Given the description of an element on the screen output the (x, y) to click on. 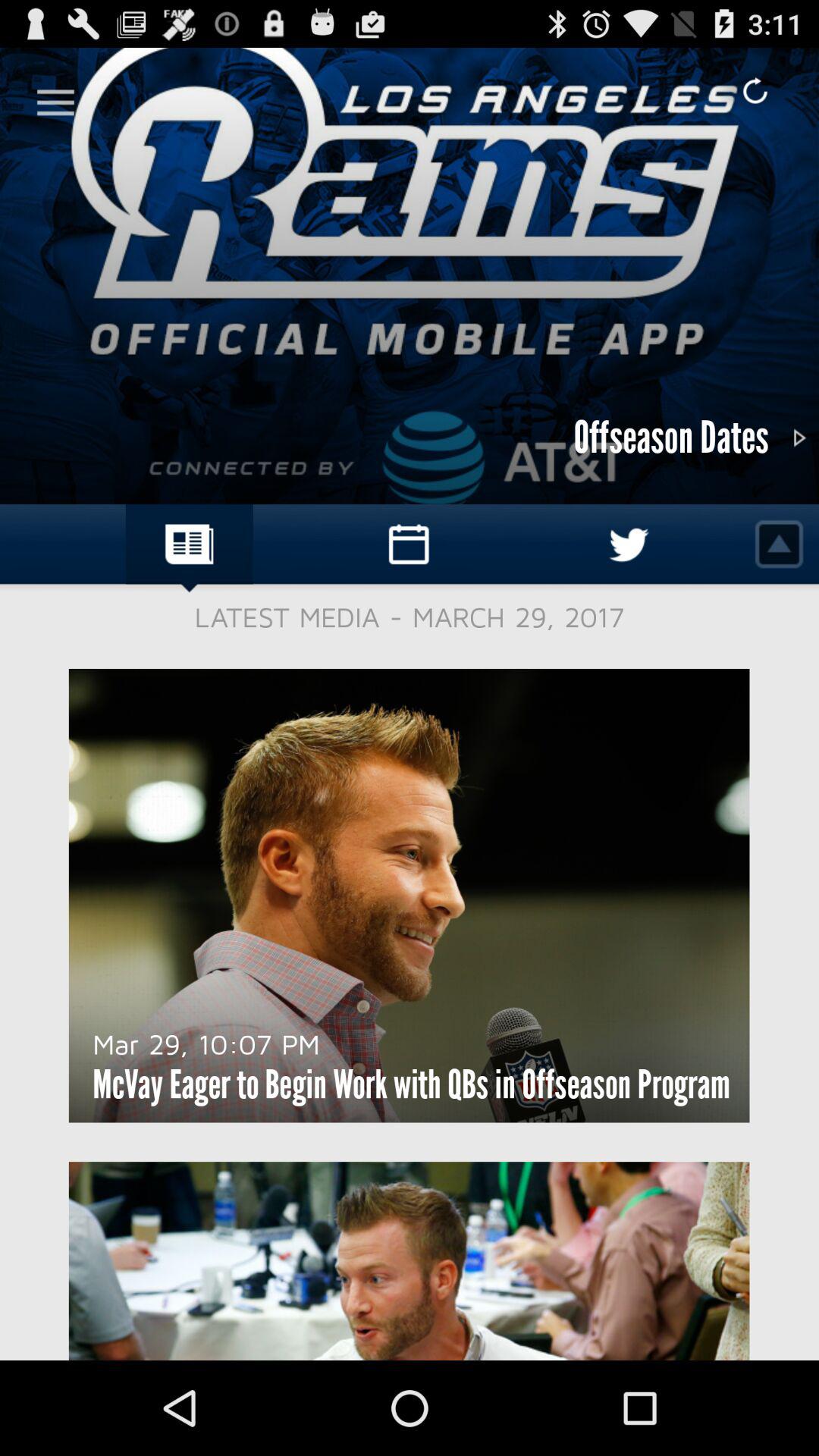
click on the last image (409, 1260)
